Given the description of an element on the screen output the (x, y) to click on. 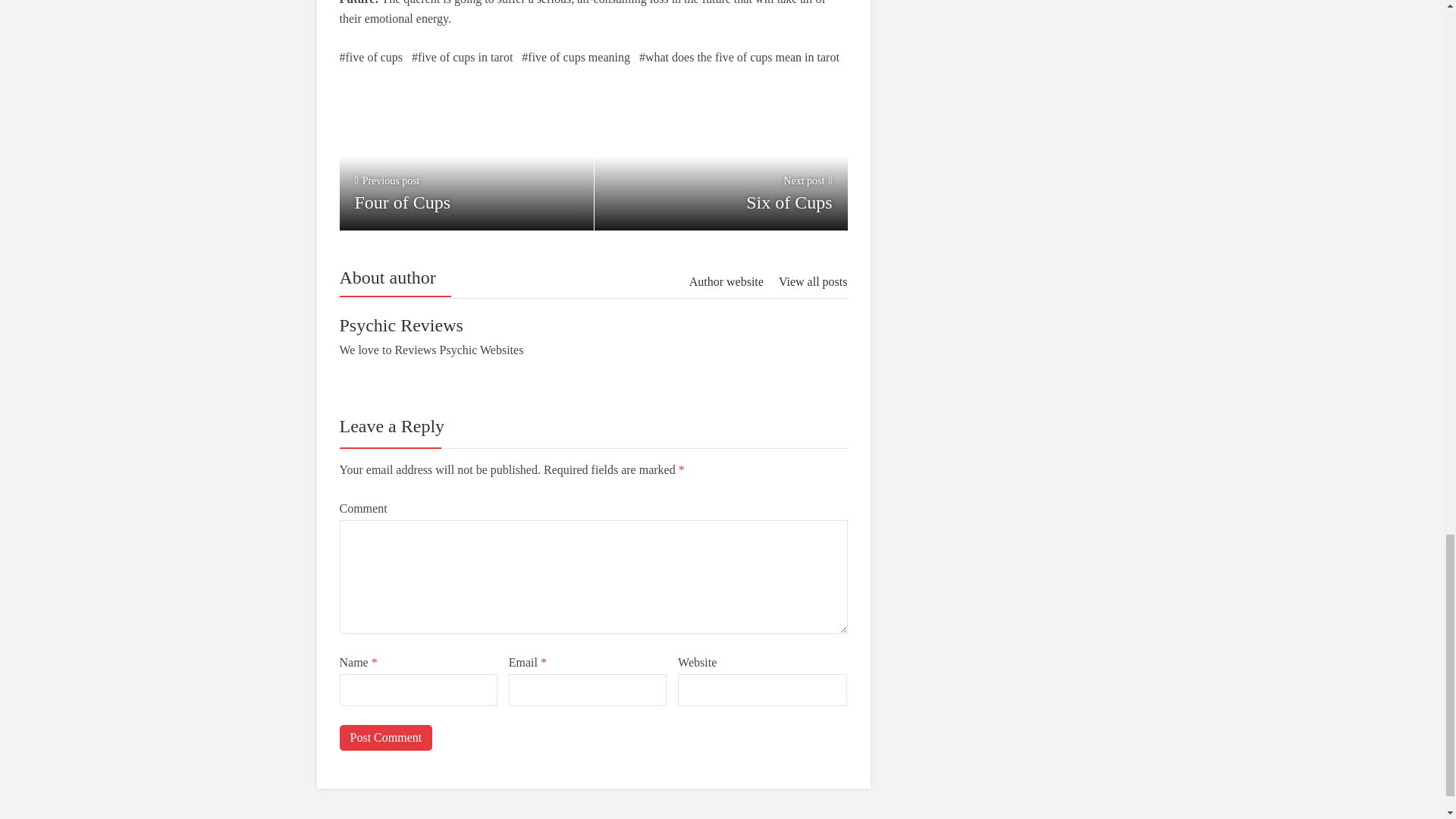
Author website (725, 281)
what does the five of cups mean in tarot (739, 57)
five of cups (371, 57)
five of cups meaning (575, 57)
Post Comment (385, 737)
Post Comment (385, 737)
View all posts (812, 281)
five of cups in tarot (466, 163)
